Given the description of an element on the screen output the (x, y) to click on. 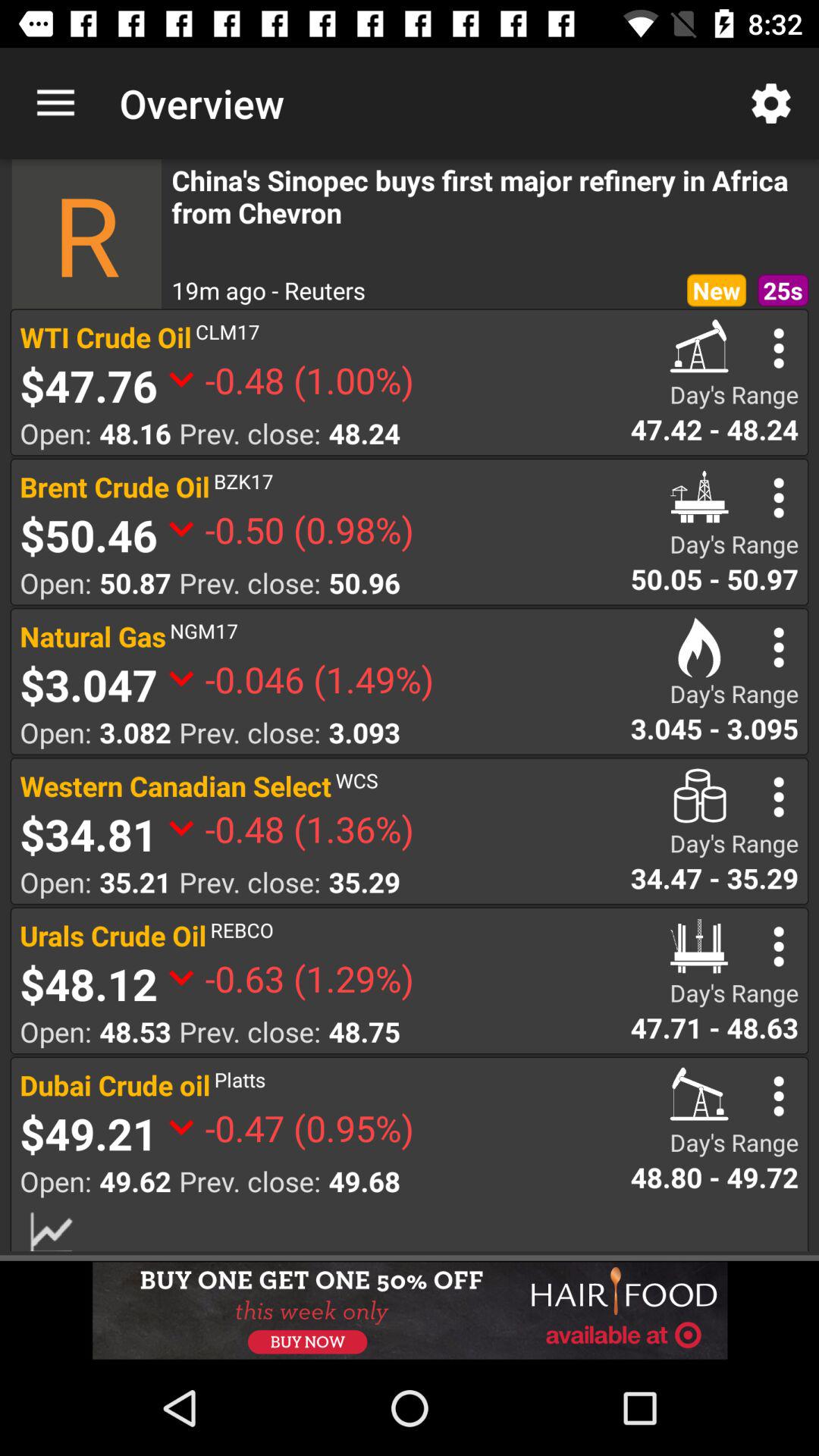
setting bar option (778, 348)
